Given the description of an element on the screen output the (x, y) to click on. 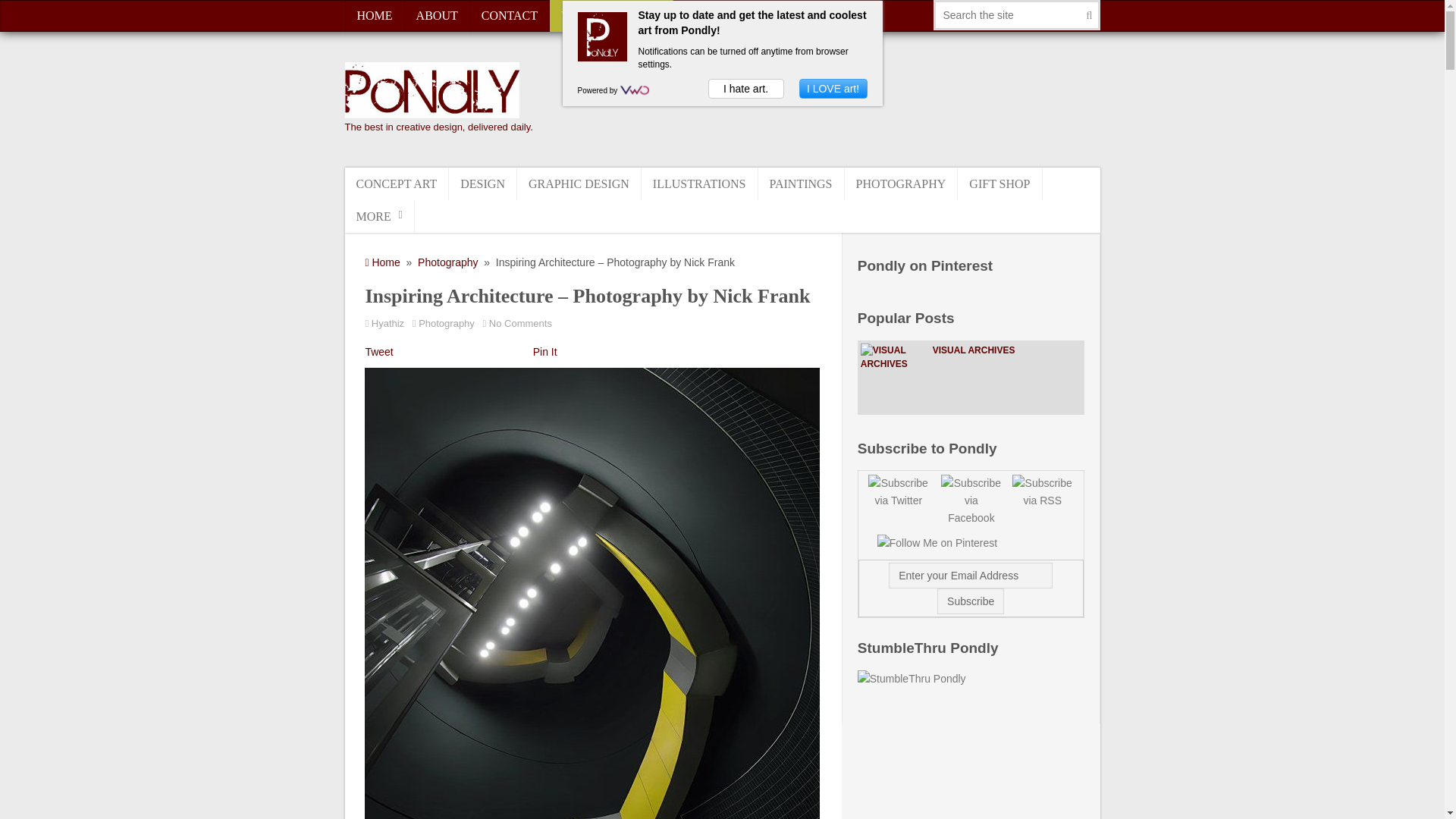
Posts by Hyathiz (387, 323)
Enter your Email Address (970, 575)
PHOTOGRAPHY (901, 183)
MORE (378, 215)
HOME (373, 15)
Subscribe via Twitter (893, 491)
 Home (381, 262)
Photography (446, 323)
CONTACT (510, 15)
ABOUT (437, 15)
Subscribe via RSS (1042, 491)
Subscribe (970, 601)
PAINTINGS (801, 183)
Tweet (379, 351)
No Comments (523, 323)
